Given the description of an element on the screen output the (x, y) to click on. 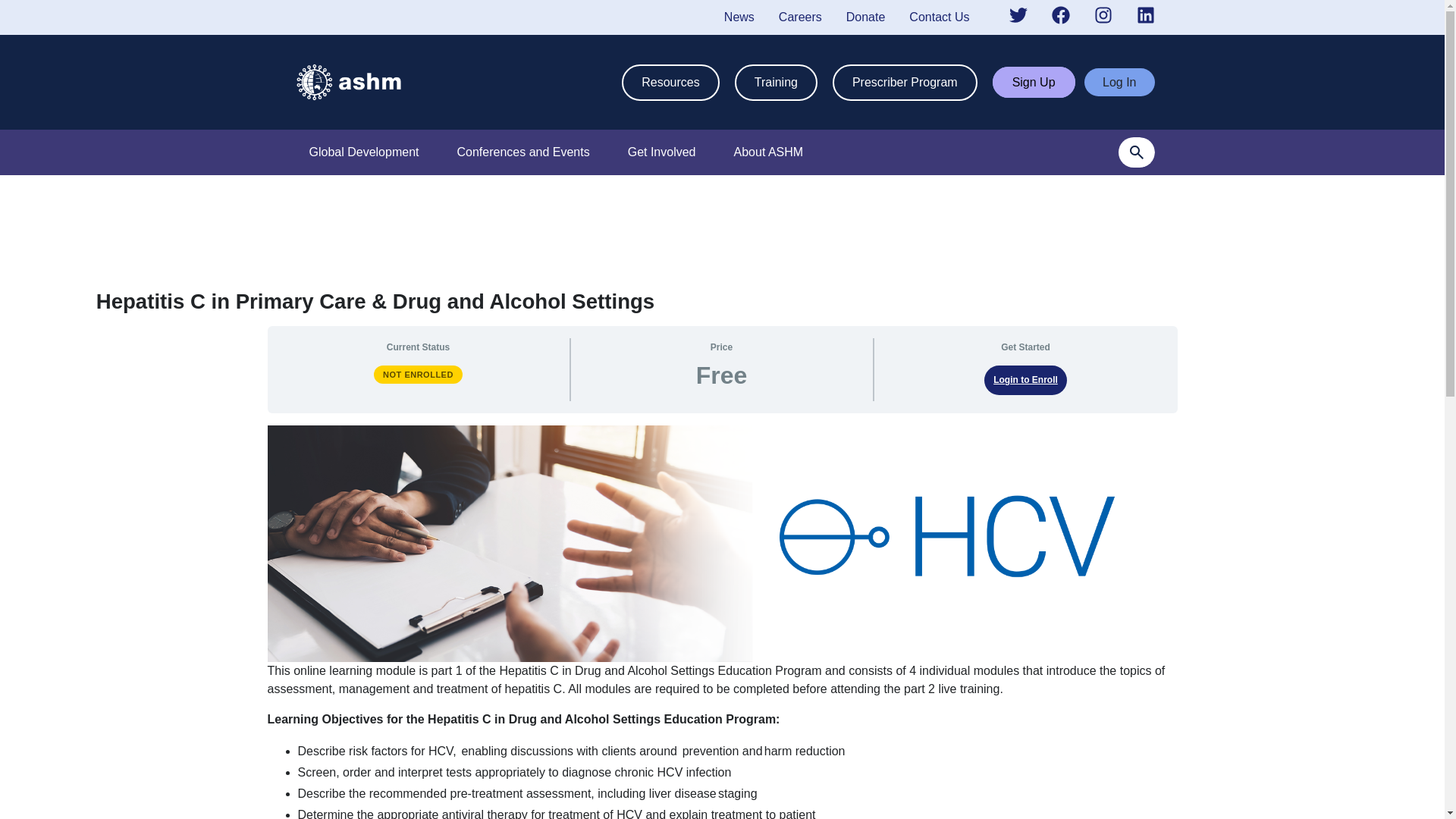
Log In (1119, 81)
Donate (865, 17)
Login (1119, 81)
Training (775, 82)
Global Development (364, 152)
Conferences and Events (522, 152)
Prescriber Program (904, 82)
News (738, 17)
Resources (670, 82)
Get Involved (662, 152)
Sign Up (1033, 81)
Contact Us (938, 17)
Careers (800, 17)
